Given the description of an element on the screen output the (x, y) to click on. 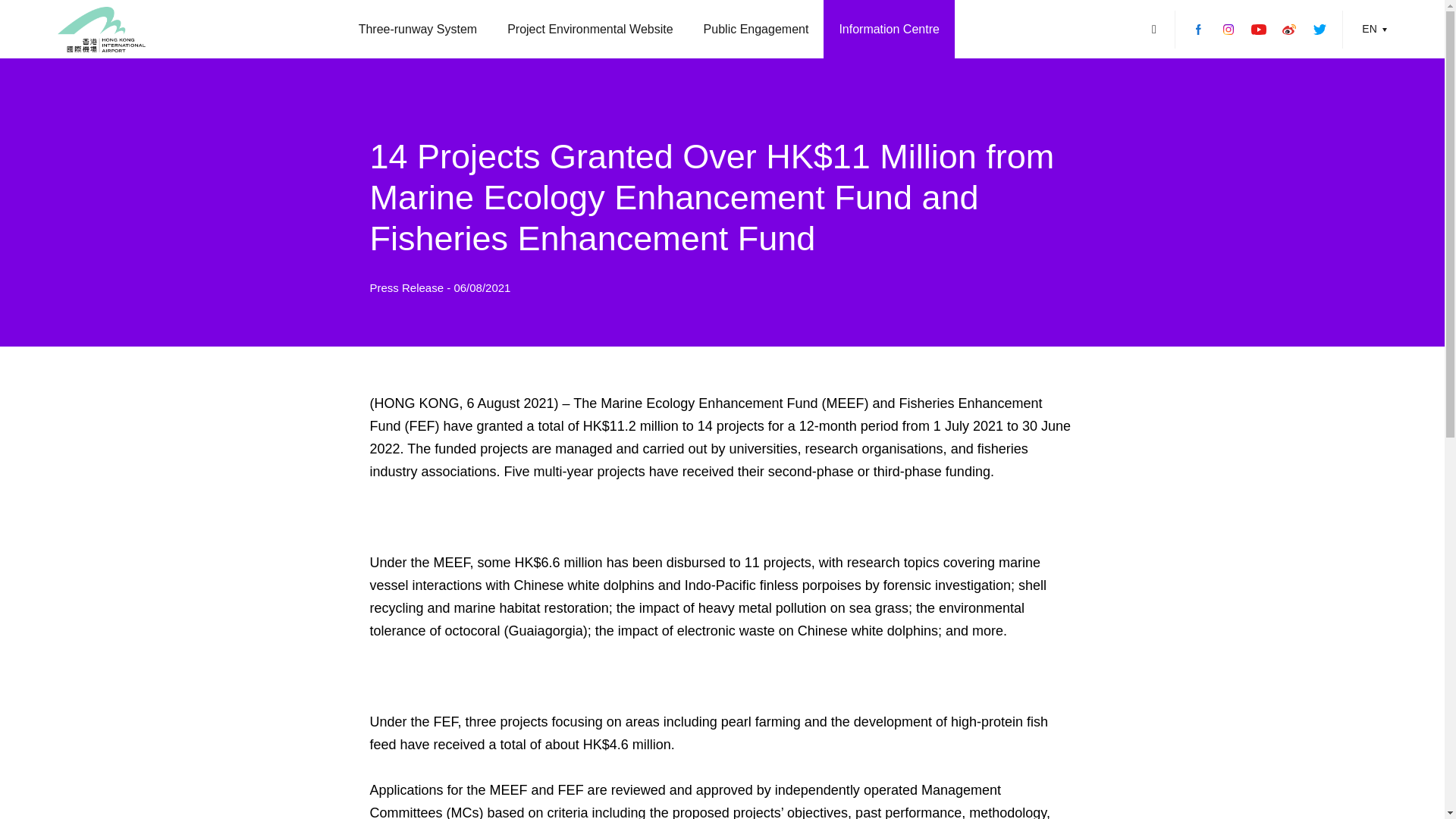
Three-runway System (418, 29)
Press Release (407, 287)
Project Environmental Website (589, 29)
Public Engagement (756, 29)
Information Centre (889, 29)
